Given the description of an element on the screen output the (x, y) to click on. 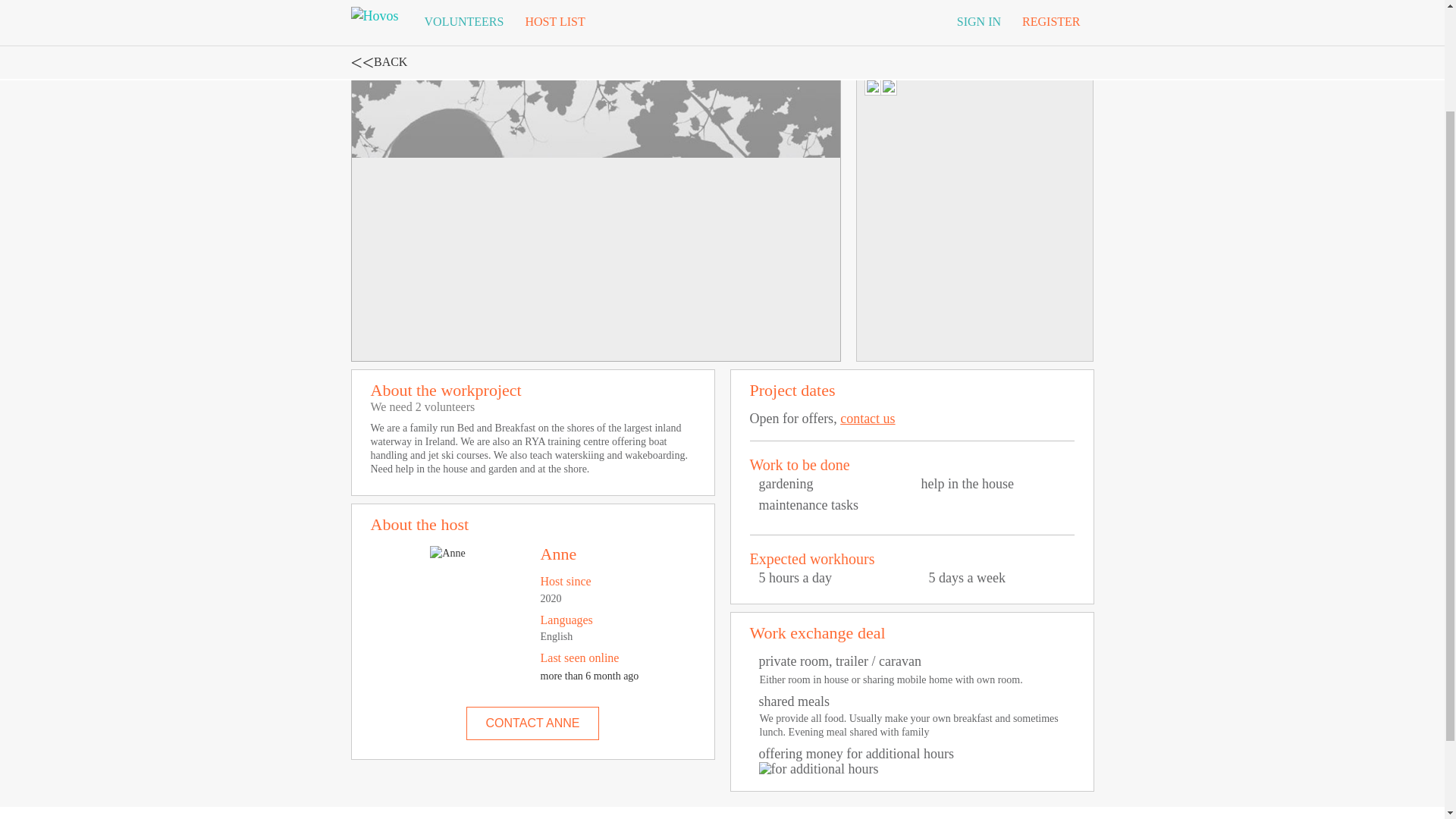
CONTACT ANNE (532, 723)
Europe (424, 3)
CHAT NOW (975, 6)
World (377, 3)
APPLY NOW (840, 6)
for additional hours (817, 768)
Northern Ireland (505, 3)
contact us (867, 418)
